Given the description of an element on the screen output the (x, y) to click on. 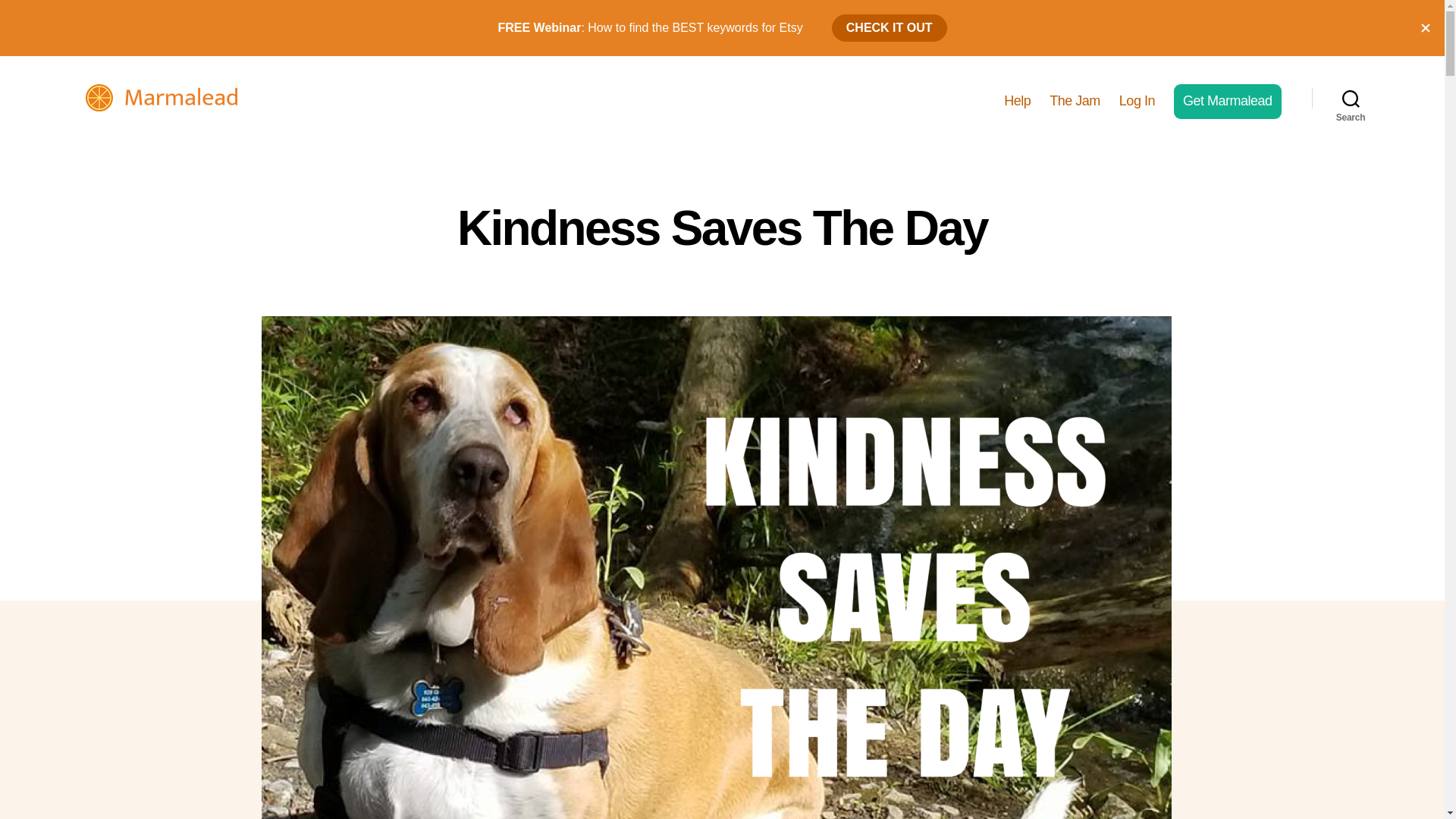
Search (1350, 97)
Get Marmalead (1227, 101)
The Jam (1074, 101)
Log In (1136, 101)
Help (1017, 101)
